Given the description of an element on the screen output the (x, y) to click on. 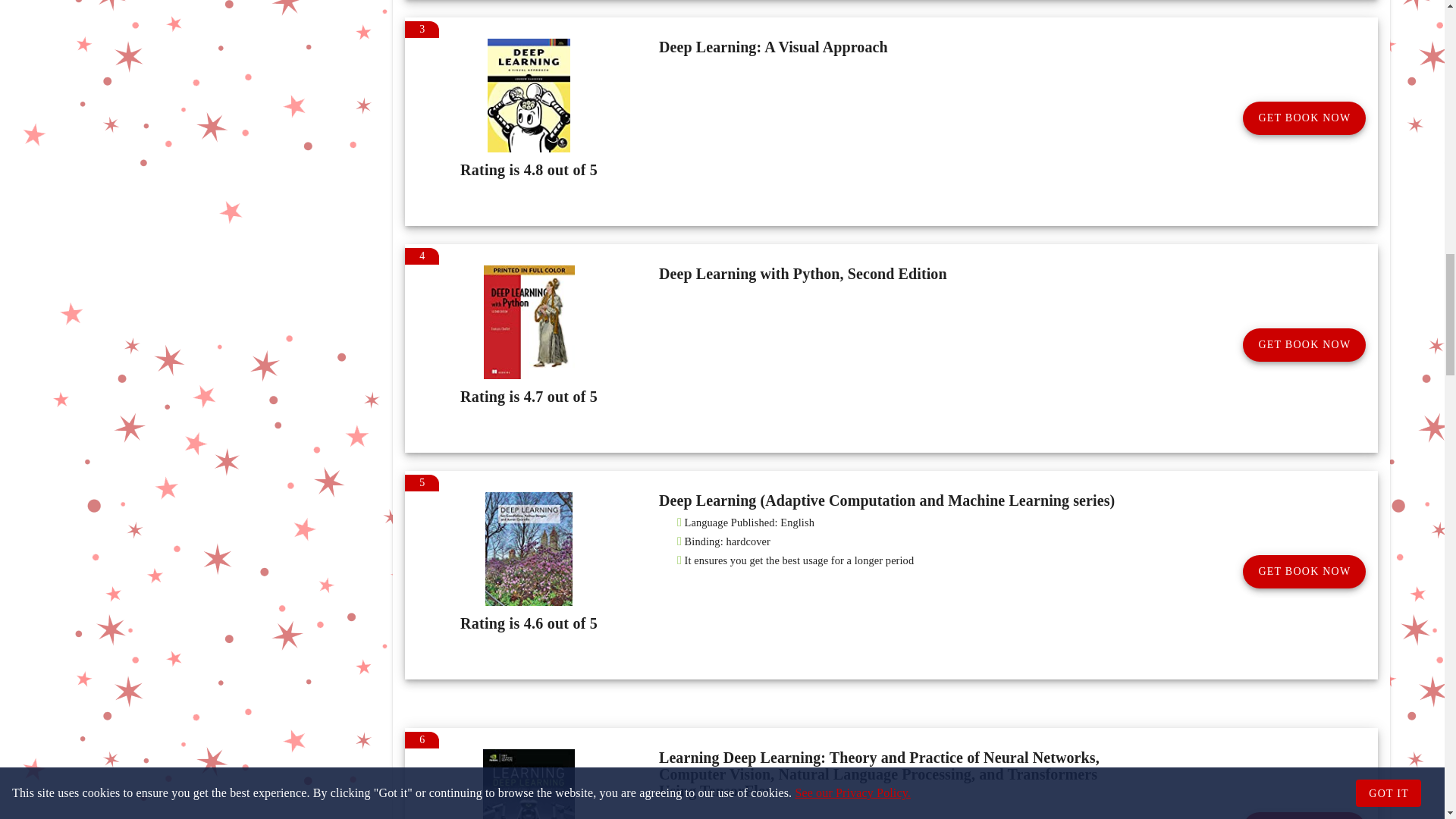
GET BOOK NOW (1304, 344)
GET BOOK NOW (1304, 815)
GET BOOK NOW (1304, 571)
GET BOOK NOW (1304, 118)
